Given the description of an element on the screen output the (x, y) to click on. 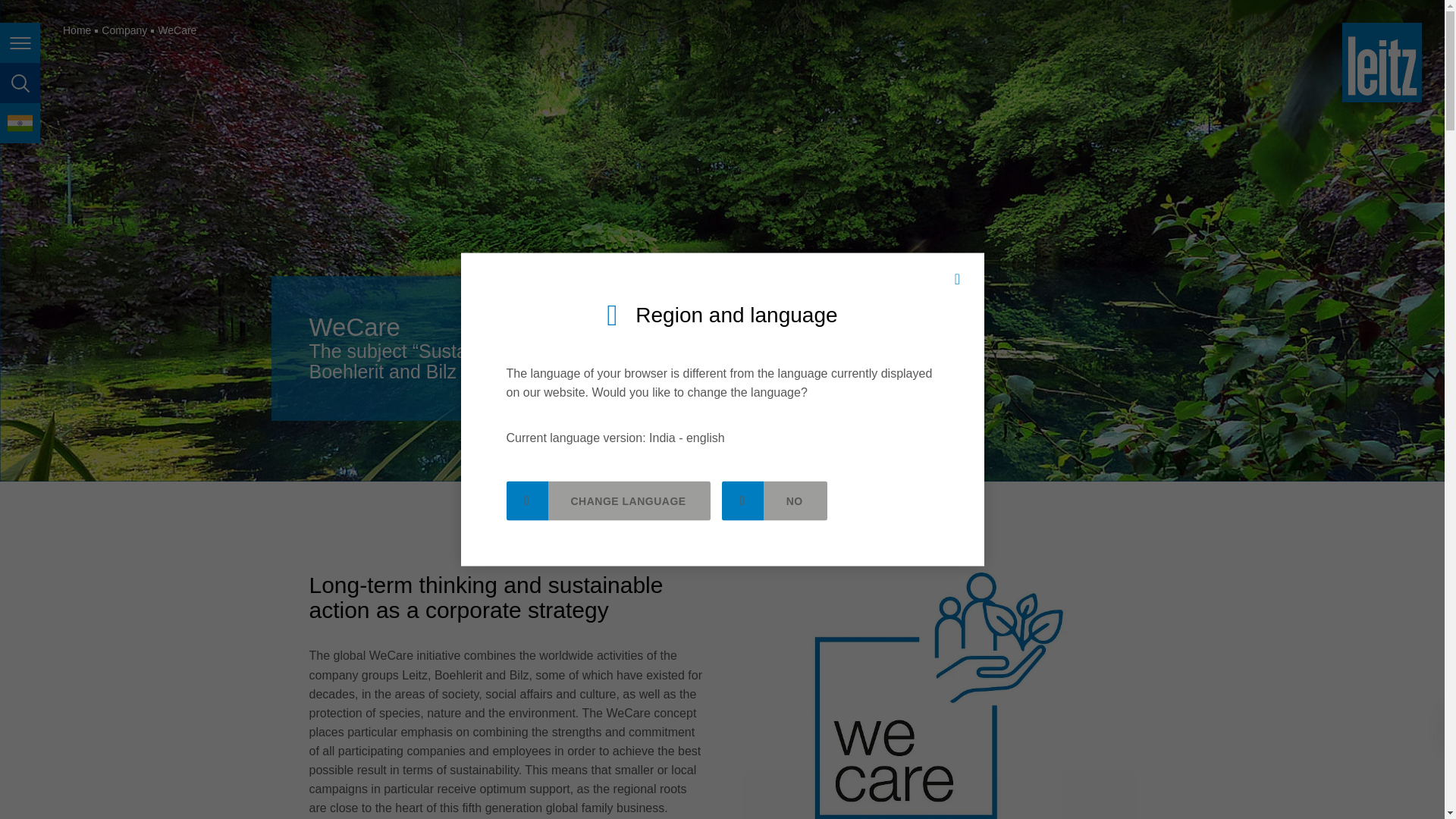
page search (20, 83)
language (20, 123)
Page navigation (20, 42)
Page navigation (20, 42)
page search (20, 83)
language (20, 123)
